Given the description of an element on the screen output the (x, y) to click on. 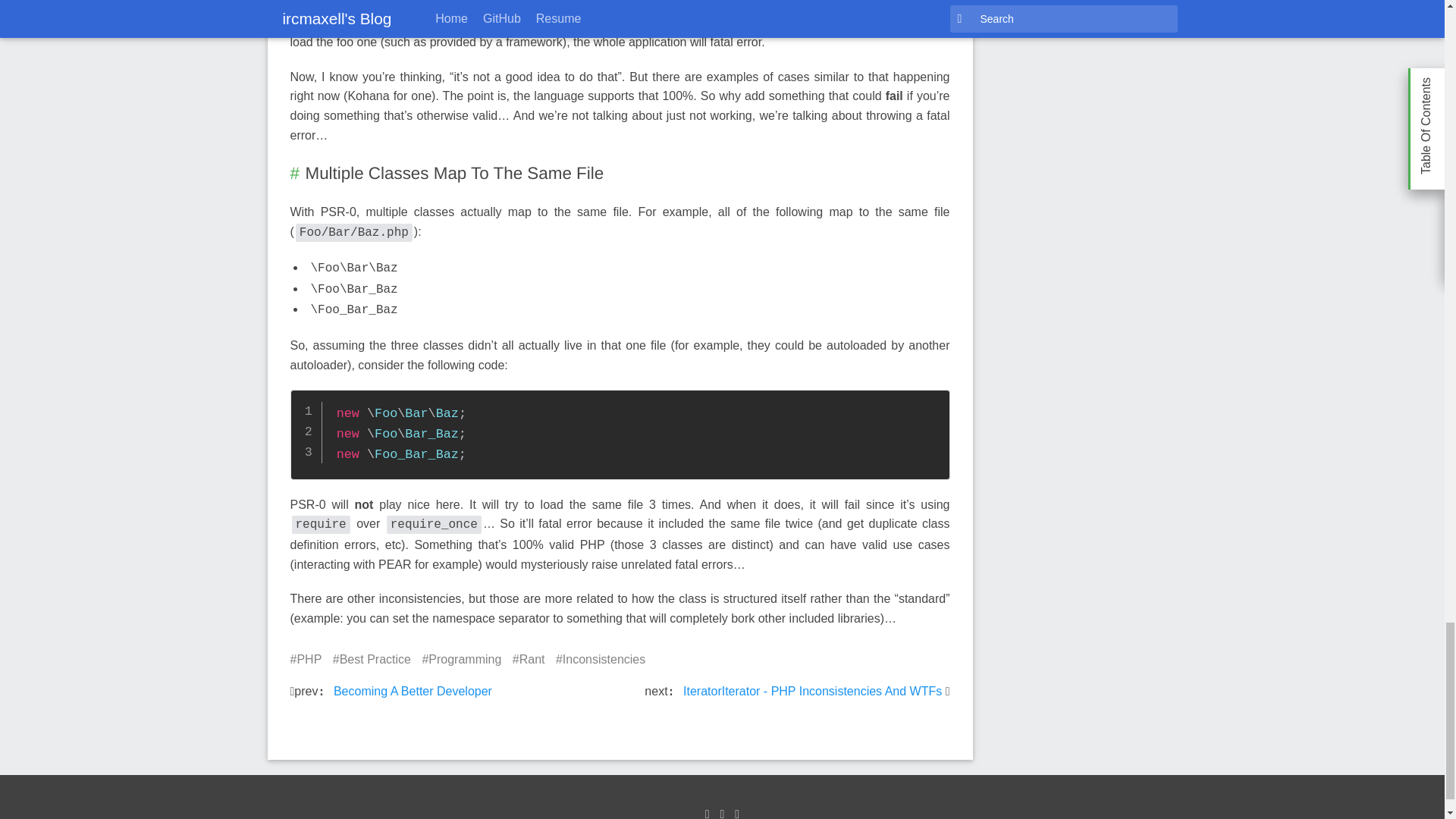
Becoming A Better Developer (411, 690)
IteratorIterator - PHP Inconsistencies And WTFs (811, 690)
